Given the description of an element on the screen output the (x, y) to click on. 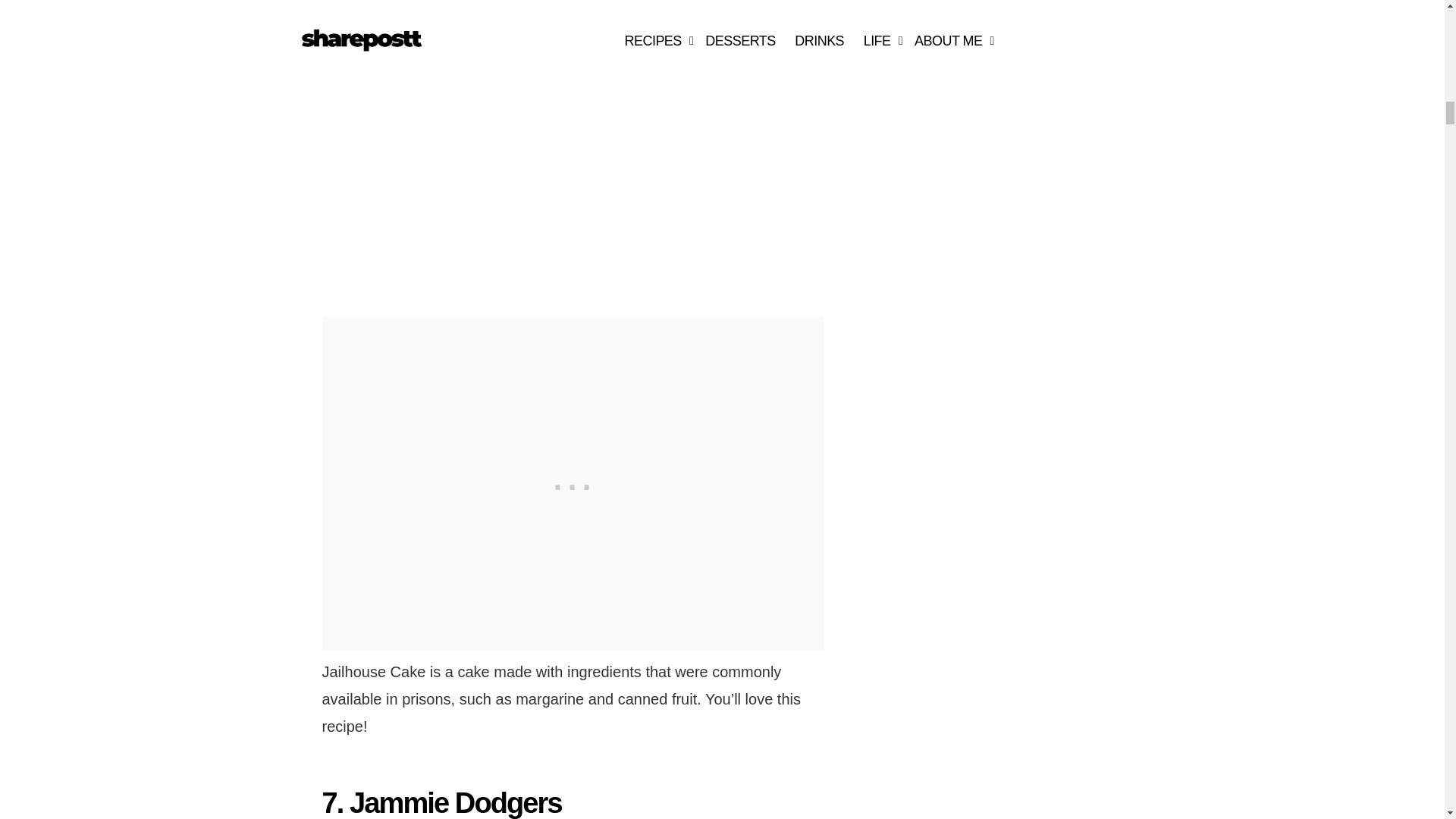
Jailhouse Cake - Simply old thyme recipes (491, 146)
